Given the description of an element on the screen output the (x, y) to click on. 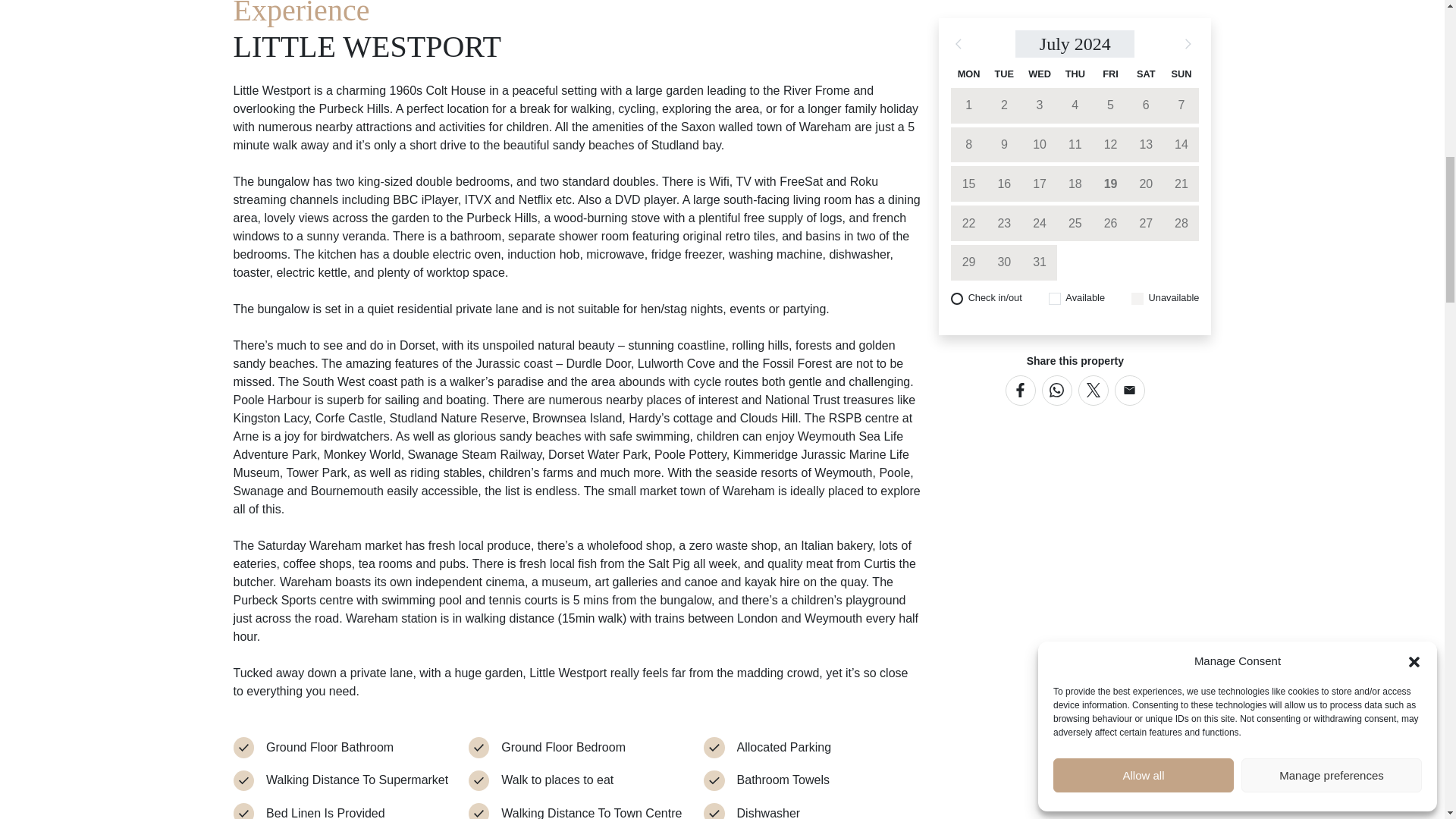
Walking Distance To Supermarket (357, 780)
Allocated Parking (783, 747)
Walking Distance To Town Centre (590, 811)
Bathroom Towels (782, 780)
Ground Floor Bedroom (563, 747)
Bed Linen Is Provided (325, 811)
Dishwasher (768, 811)
Walk to places to eat (556, 780)
Ground Floor Bathroom (329, 747)
